Given the description of an element on the screen output the (x, y) to click on. 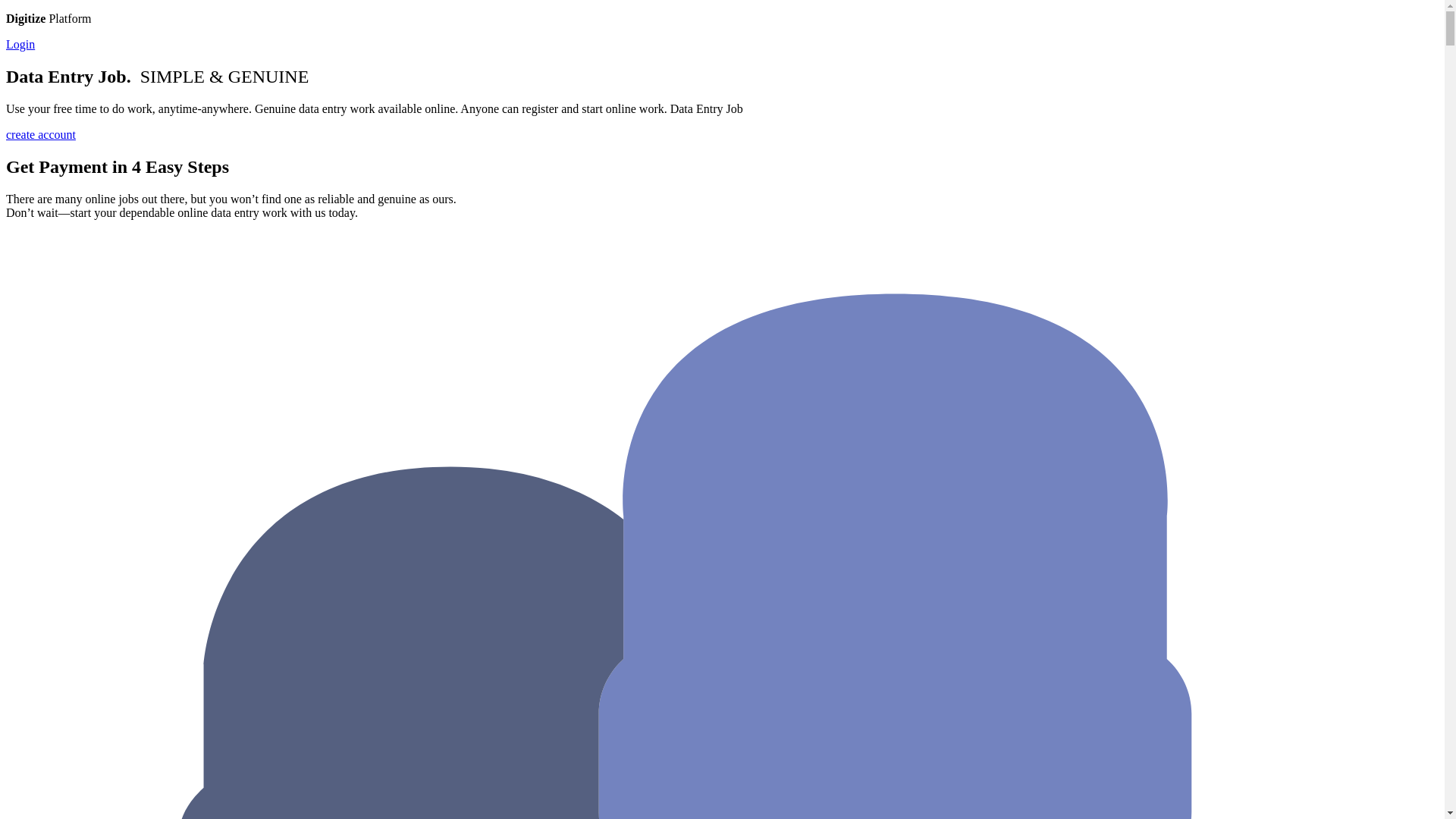
create account (40, 133)
Login (19, 43)
